Given the description of an element on the screen output the (x, y) to click on. 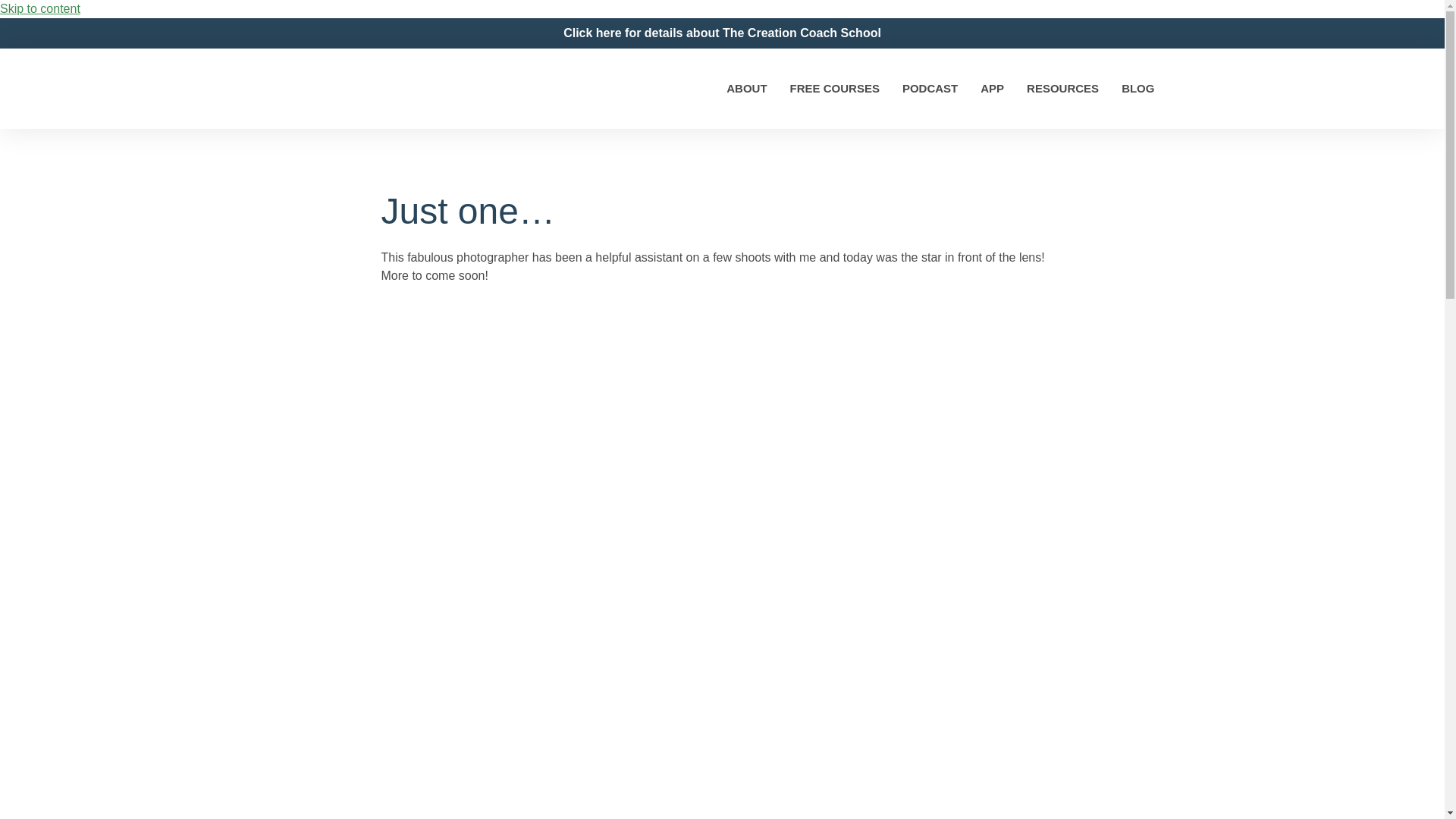
APP (991, 88)
Skip to content (40, 8)
FREE COURSES (834, 88)
BLOG (1137, 88)
PODCAST (930, 88)
RESOURCES (1062, 88)
ABOUT (746, 88)
